Given the description of an element on the screen output the (x, y) to click on. 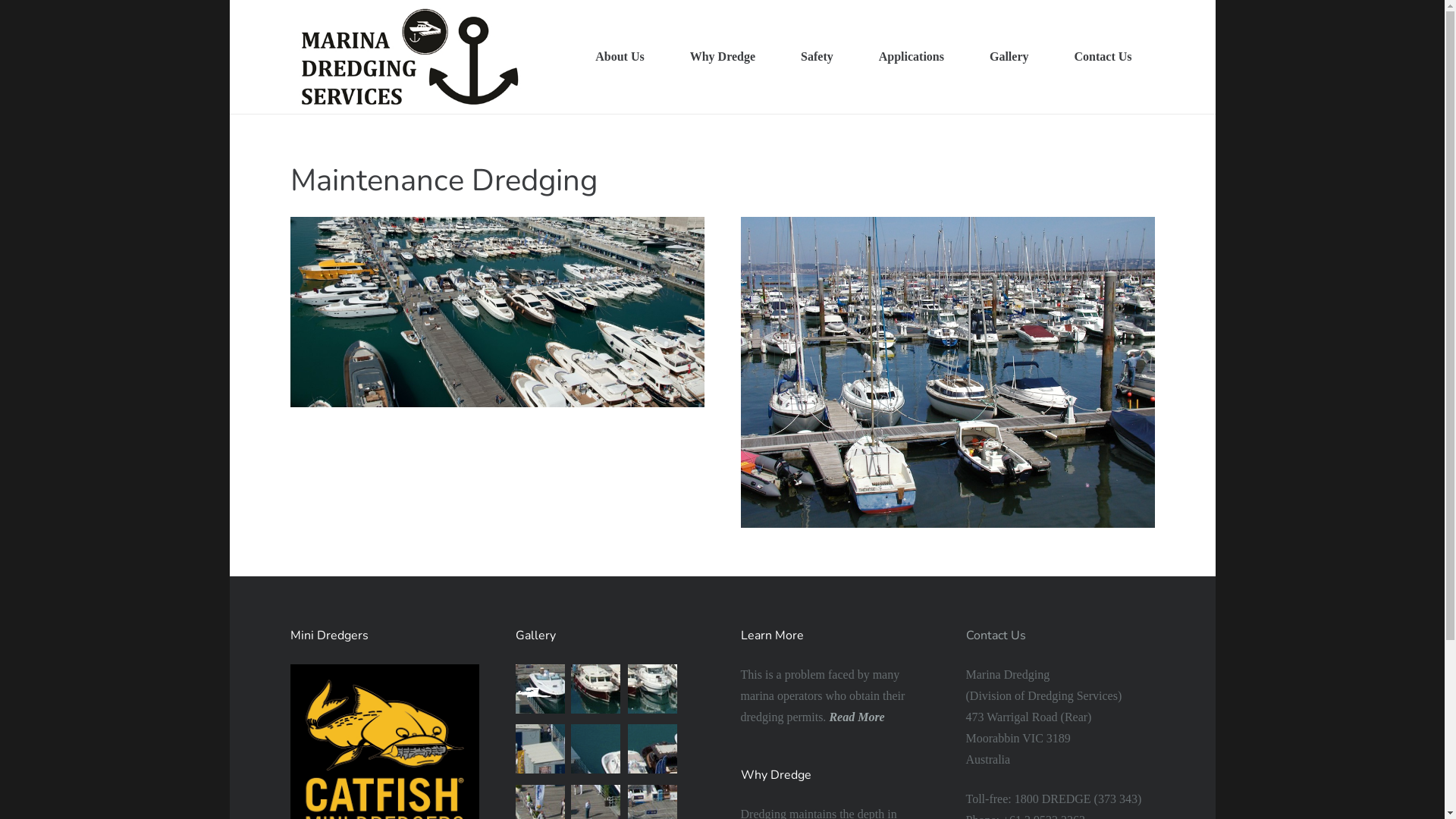
Gallery Element type: text (1008, 56)
Safety Element type: text (817, 56)
Applications Element type: text (911, 56)
Contact Us Element type: text (1102, 56)
Contact Us Element type: text (996, 634)
About Us Element type: text (619, 56)
Read More Element type: text (856, 715)
Why Dredge Element type: text (722, 56)
